Given the description of an element on the screen output the (x, y) to click on. 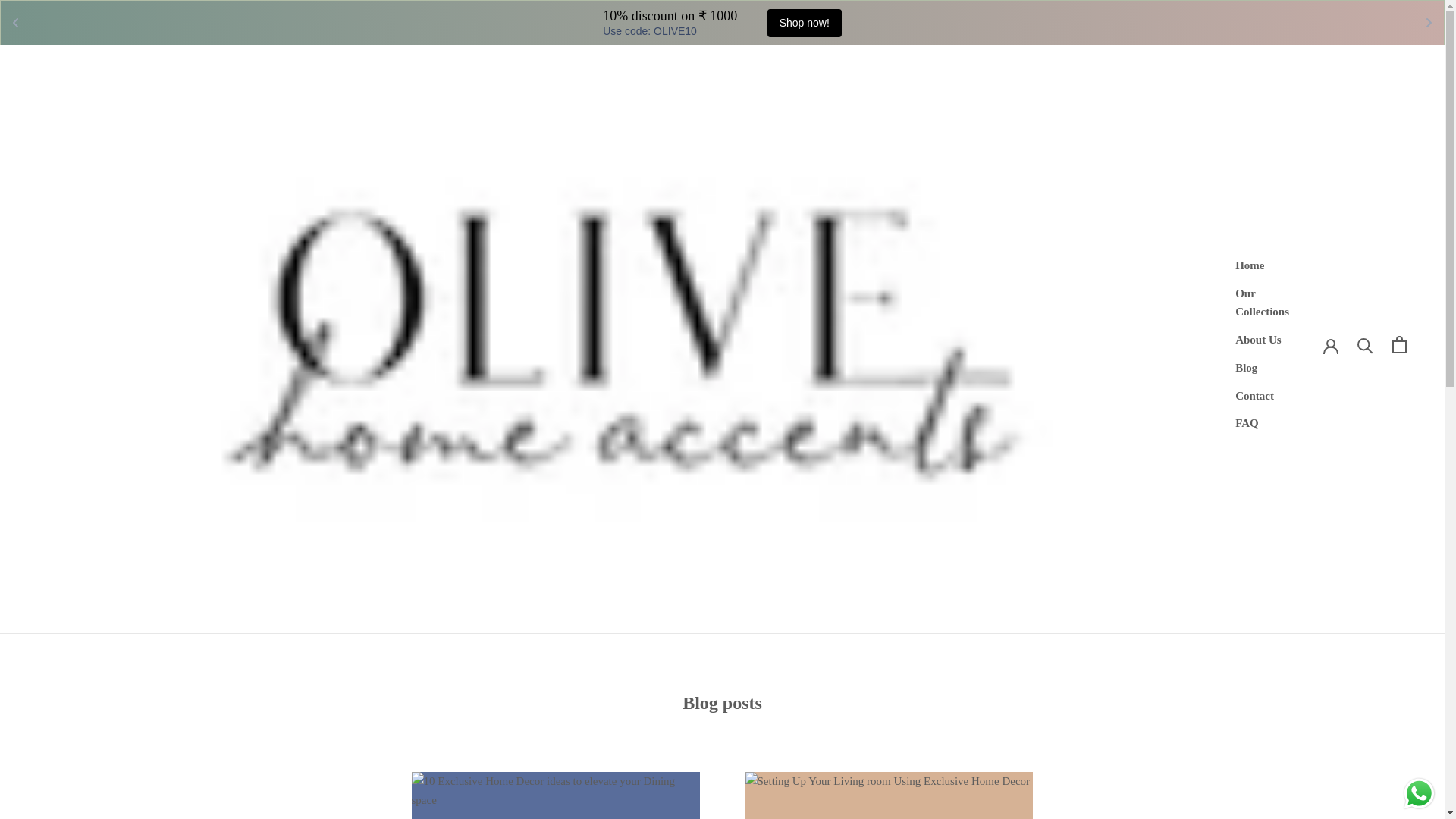
Our Collections (1248, 265)
Shop now! (1261, 302)
Skip to content (804, 22)
